Given the description of an element on the screen output the (x, y) to click on. 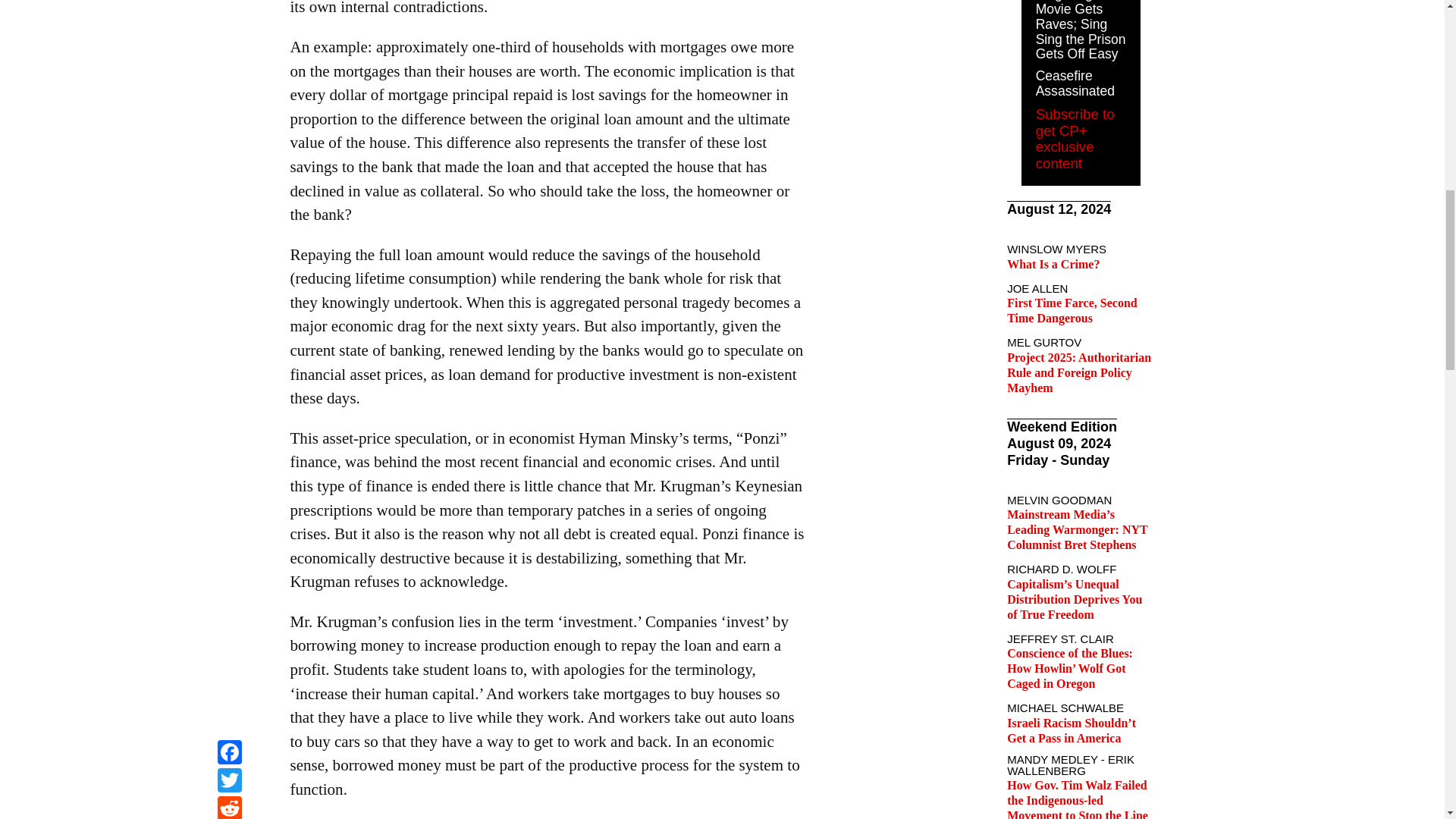
What Is a Crime? (1053, 264)
Ceasefire Assassinated (1075, 82)
Email (229, 18)
Reddit (229, 2)
Email (229, 18)
Reddit (229, 2)
